Given the description of an element on the screen output the (x, y) to click on. 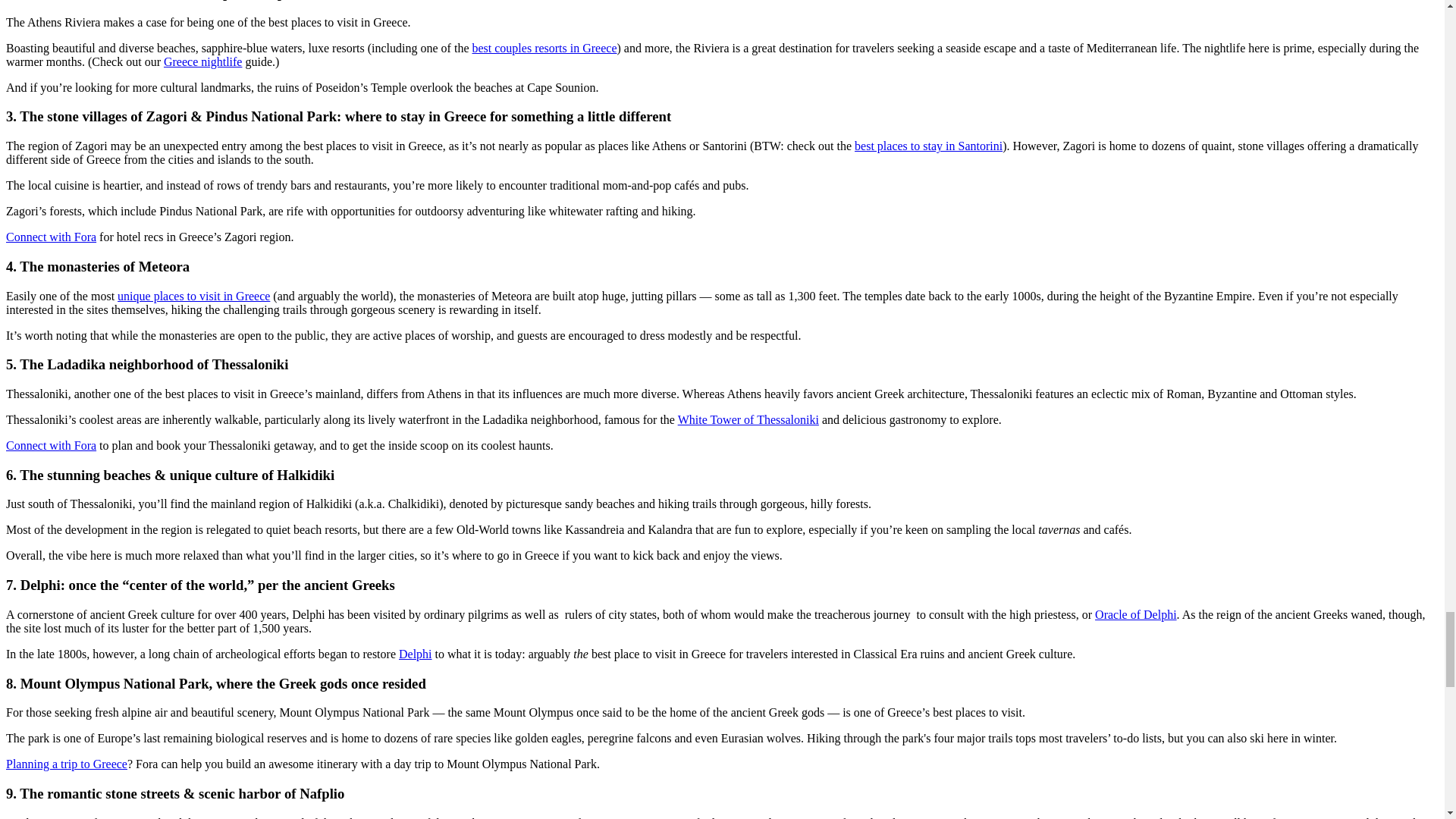
Delphi (415, 653)
best couples resorts in Greece (543, 47)
Planning a trip to Greece (66, 763)
Connect with Fora (50, 236)
Oracle of Delphi (1135, 614)
Greece nightlife (203, 61)
White Tower of Thessaloniki (748, 419)
Connect with Fora (50, 445)
unique places to visit in Greece (193, 295)
best places to stay in Santorini (928, 145)
